Given the description of an element on the screen output the (x, y) to click on. 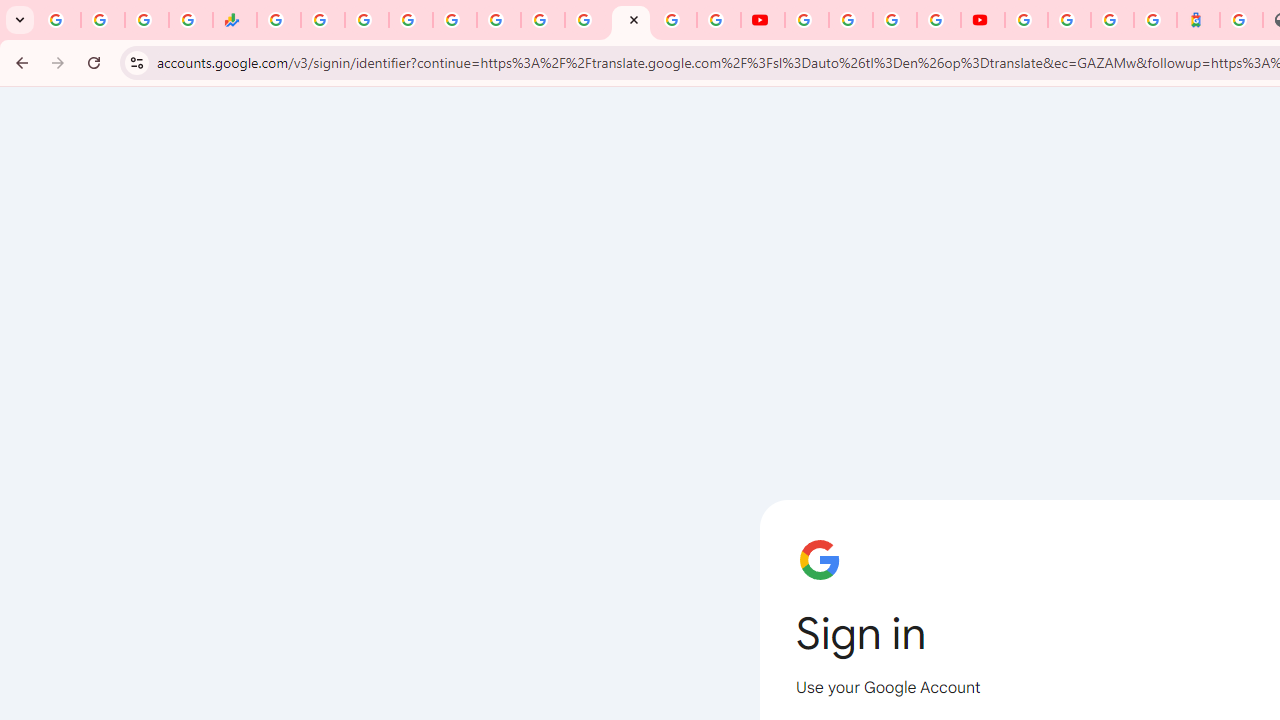
Sign in - Google Accounts (630, 20)
Google Workspace Admin Community (58, 20)
